Given the description of an element on the screen output the (x, y) to click on. 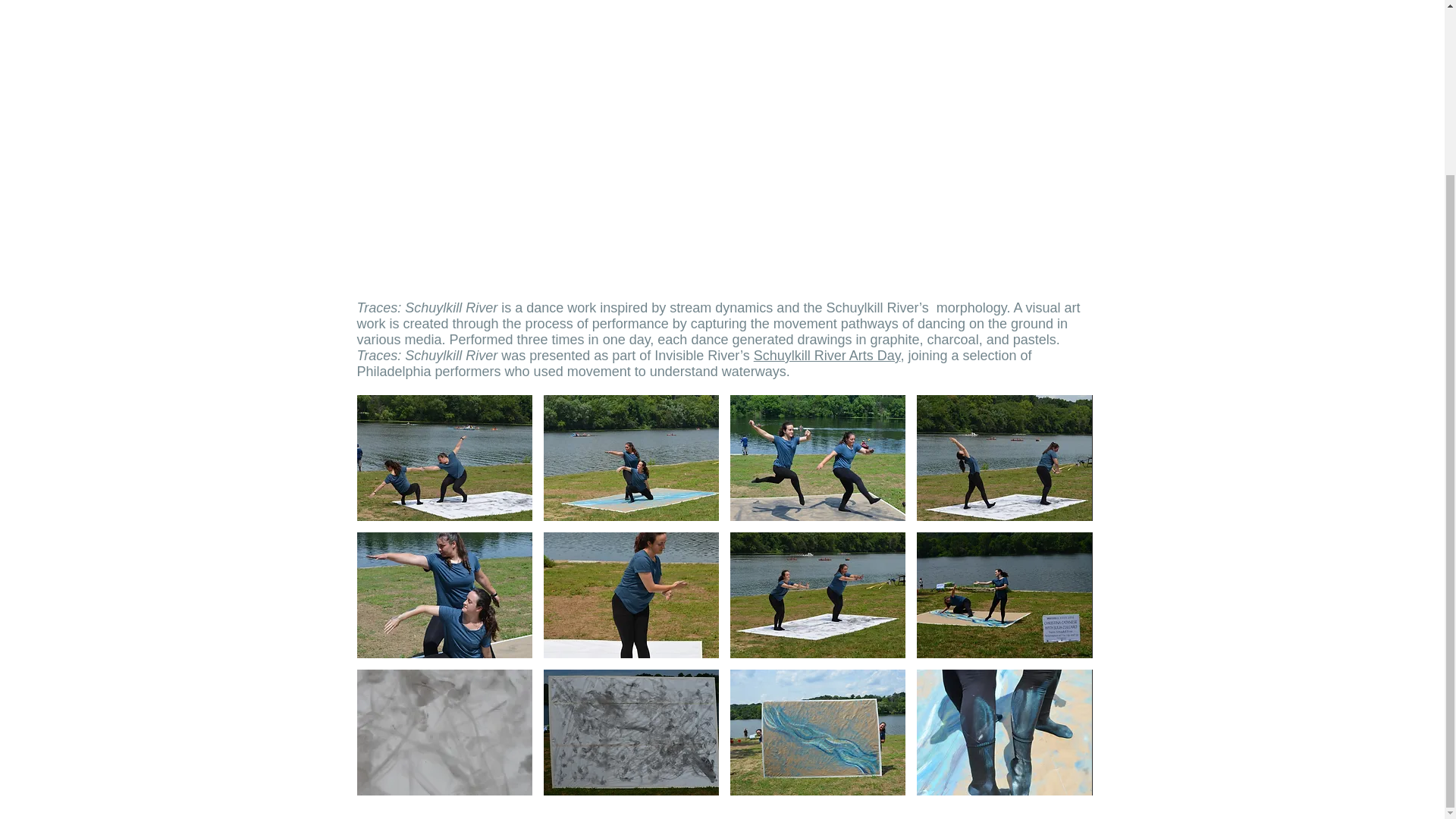
Schuylkill River Arts Day (827, 355)
